Given the description of an element on the screen output the (x, y) to click on. 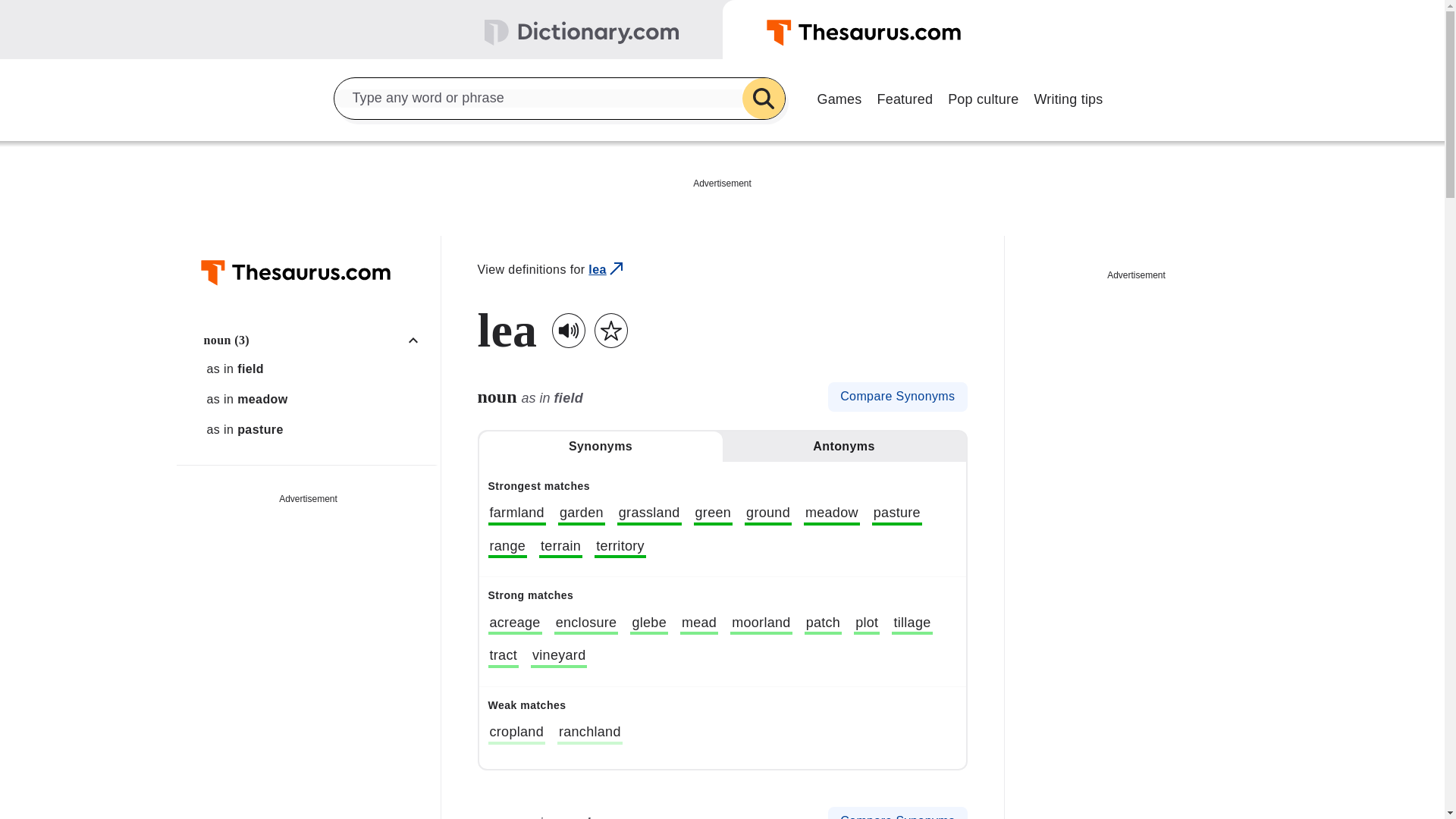
as in field (316, 369)
Featured (904, 97)
Pop culture (983, 97)
as in meadow (316, 399)
Compare Synonyms (897, 396)
Games (839, 97)
lea (607, 270)
as in pasture (316, 429)
Writing tips (1067, 97)
Synonyms (600, 446)
